Given the description of an element on the screen output the (x, y) to click on. 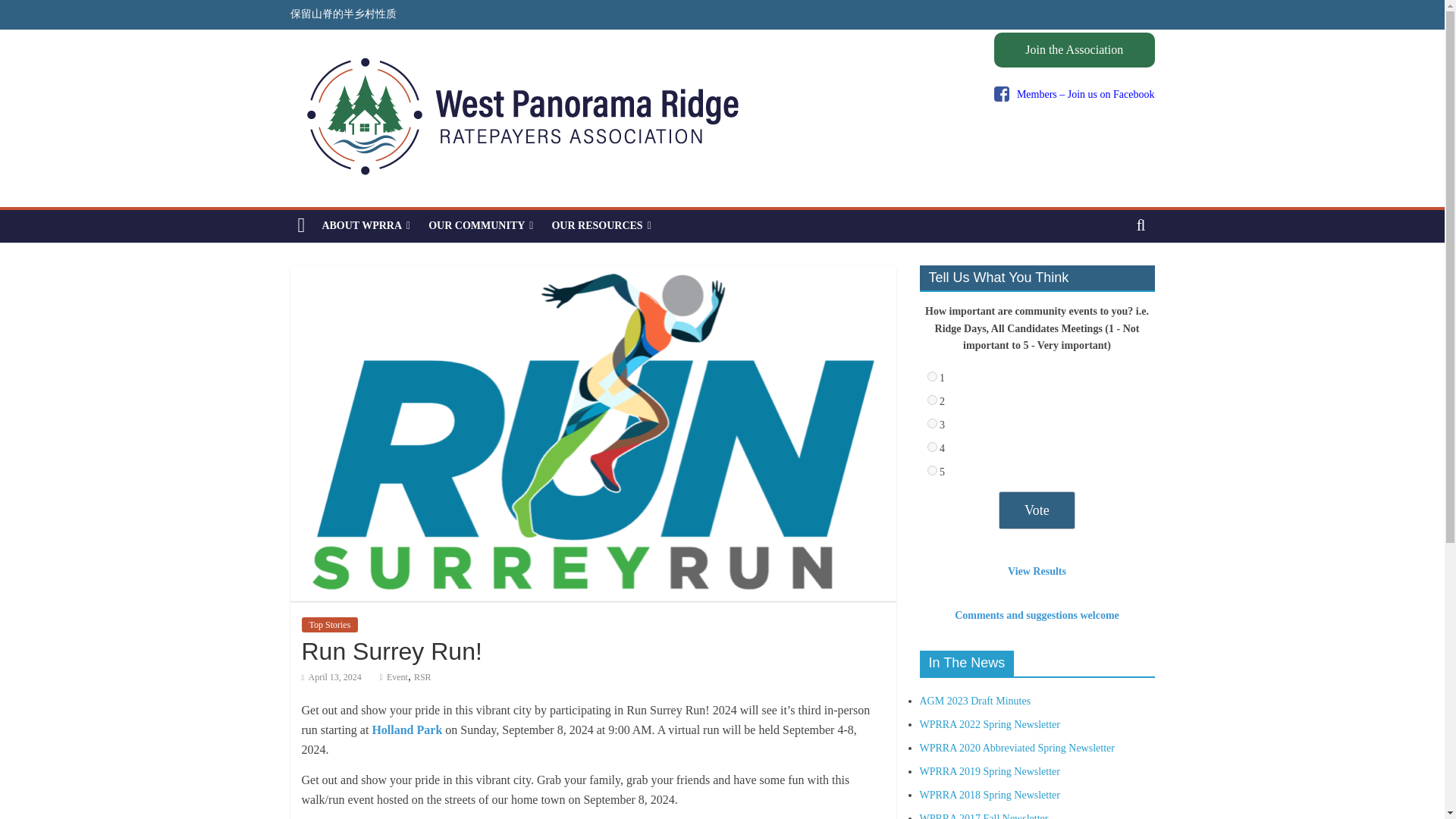
1:12 pm (331, 676)
RSR (421, 676)
April 13, 2024 (331, 676)
Comments and suggestions welcome (1037, 614)
ABOUT WPRRA (366, 225)
View Results (1036, 571)
Event (397, 676)
31 (931, 423)
29 (931, 376)
Holland Park (406, 729)
   Vote    (1036, 510)
OUR RESOURCES (600, 225)
33 (931, 470)
30 (931, 399)
32 (931, 447)
